Given the description of an element on the screen output the (x, y) to click on. 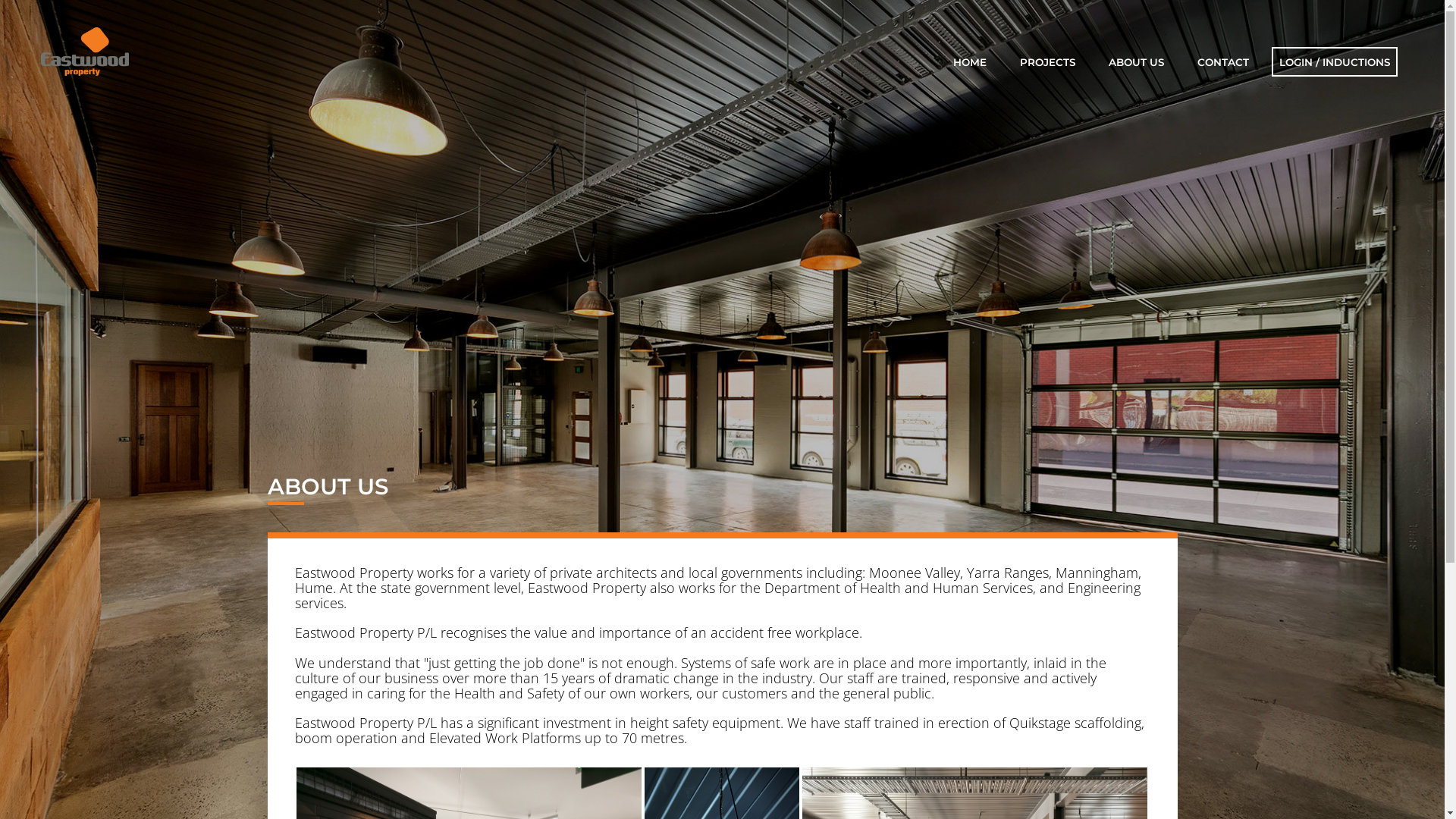
HOME Element type: text (969, 62)
ABOUT US Element type: text (1136, 62)
CONTACT Element type: text (1222, 62)
PROJECTS Element type: text (1047, 62)
LOGIN / INDUCTIONS Element type: text (1334, 62)
